Given the description of an element on the screen output the (x, y) to click on. 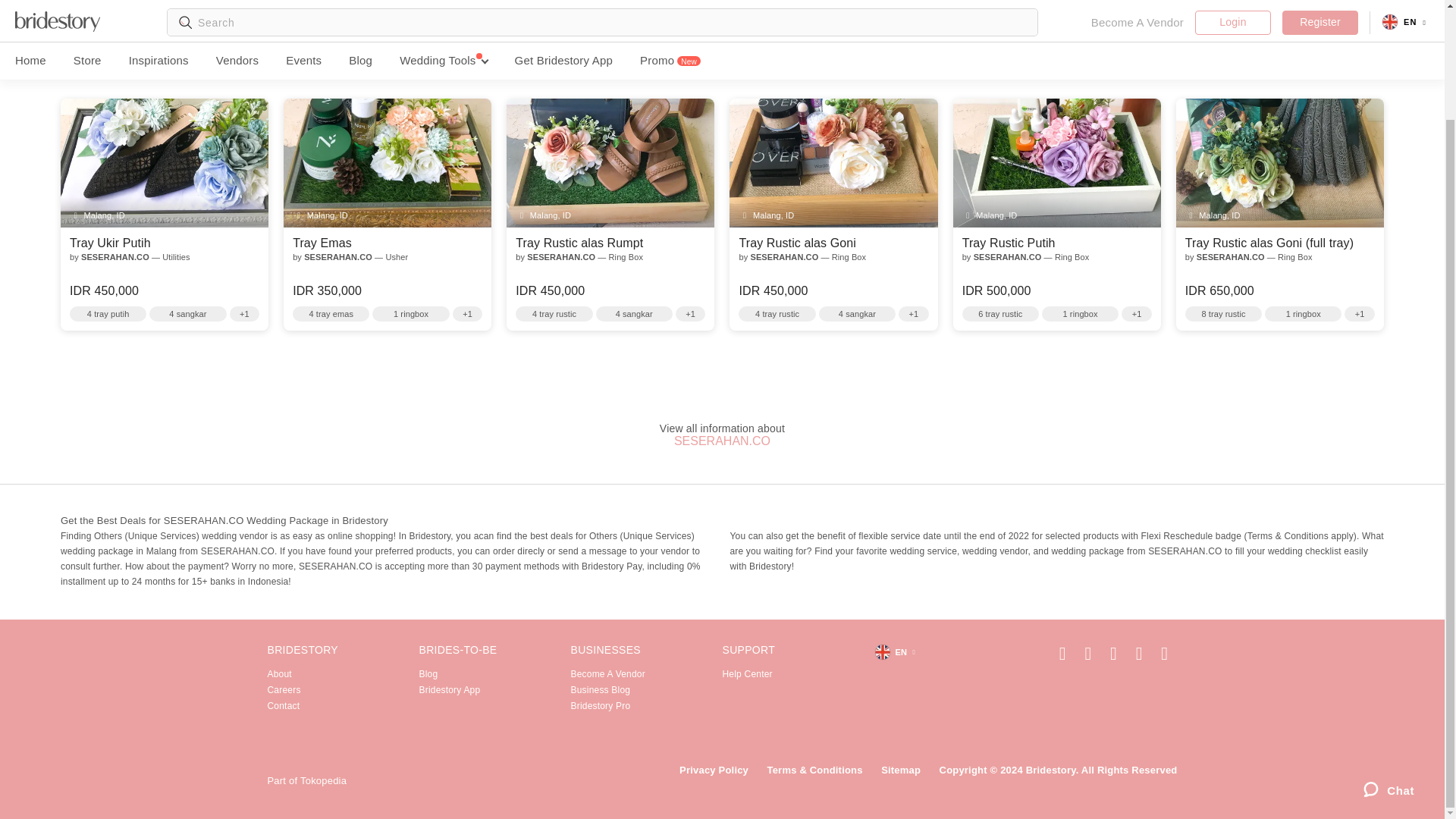
Bridestory App (449, 689)
Bridestory Logo (319, 757)
Bridestory Pro (600, 706)
Contact (282, 706)
Blog (428, 674)
Careers (282, 689)
About (278, 674)
Help Center (746, 674)
SESERAHAN.CO (722, 440)
Become A Vendor (607, 674)
